Given the description of an element on the screen output the (x, y) to click on. 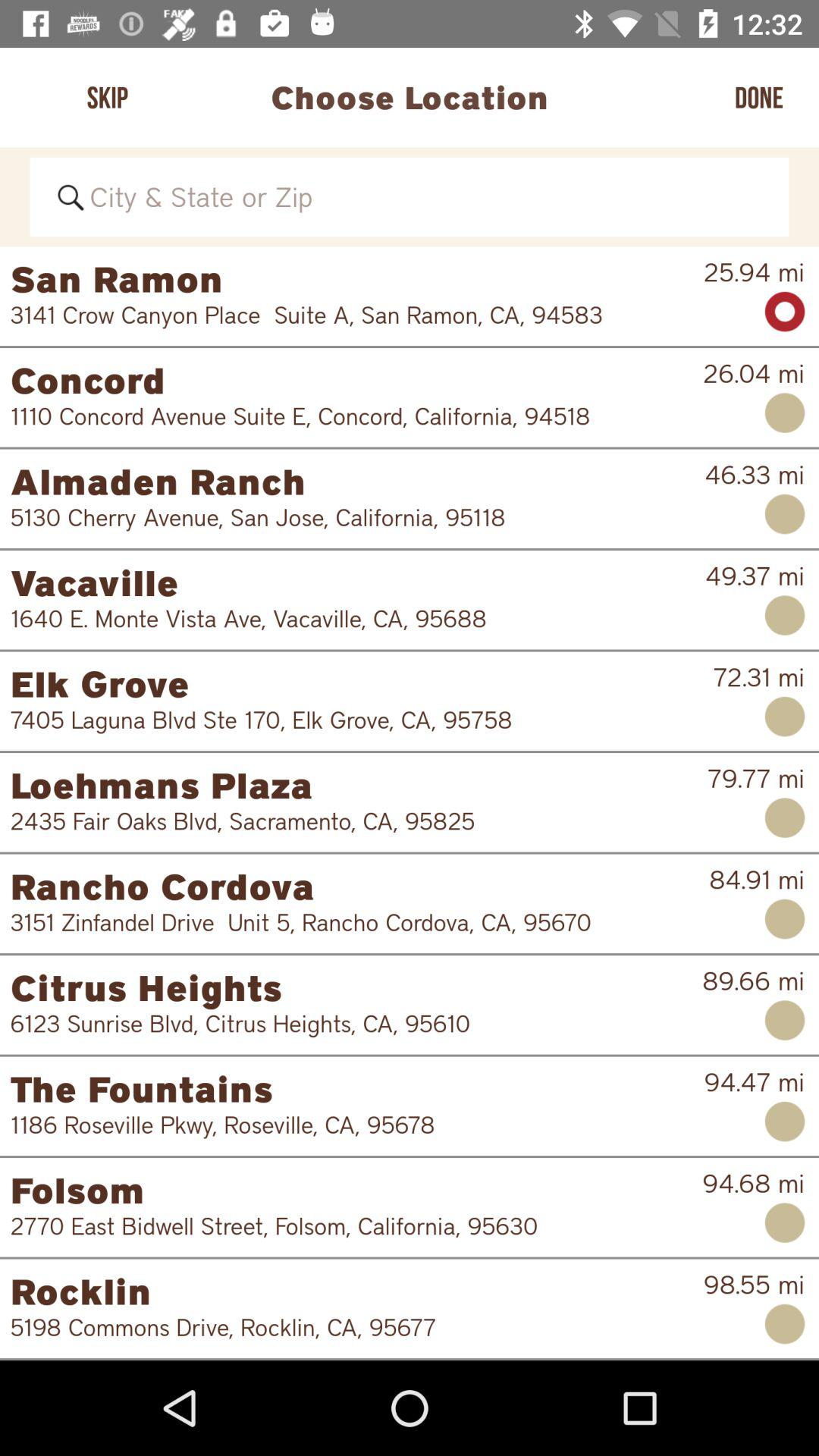
click the icon to the right of rocklin (753, 1284)
